Given the description of an element on the screen output the (x, y) to click on. 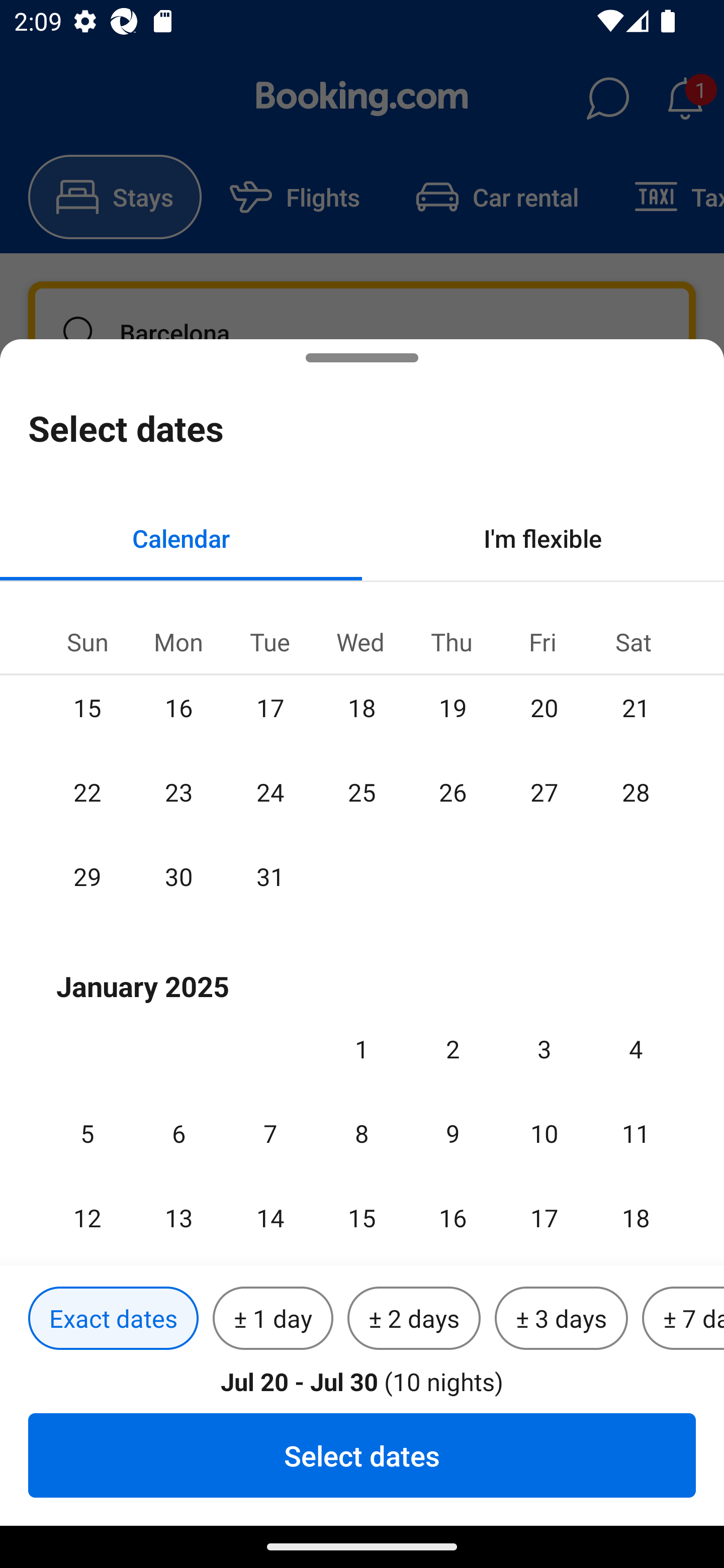
I'm flexible (543, 537)
Exact dates (113, 1318)
± 1 day (272, 1318)
± 2 days (413, 1318)
± 3 days (560, 1318)
± 7 days (683, 1318)
Select dates (361, 1454)
